Given the description of an element on the screen output the (x, y) to click on. 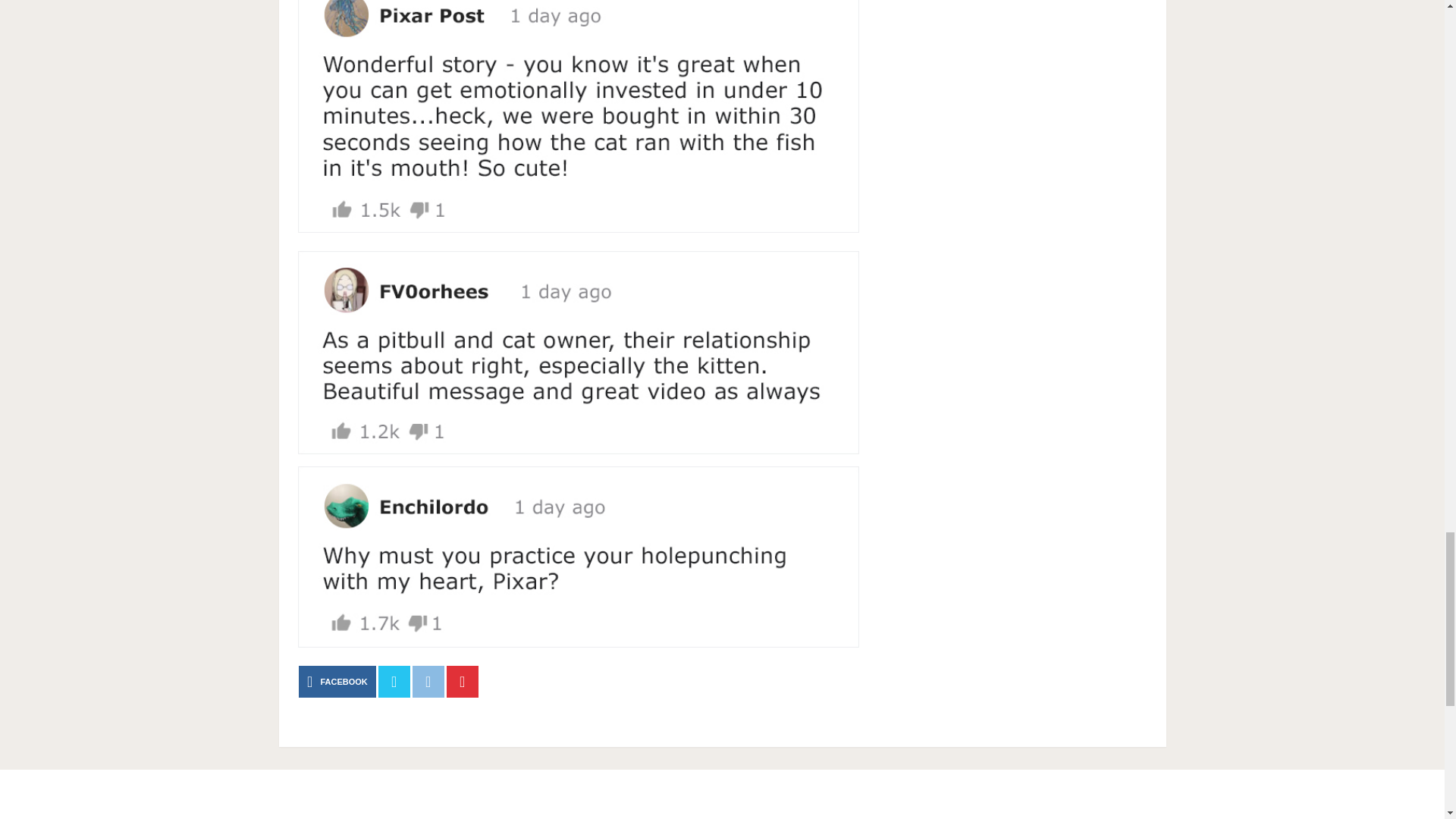
FACEBOOK (336, 681)
Advertisement (722, 798)
